Given the description of an element on the screen output the (x, y) to click on. 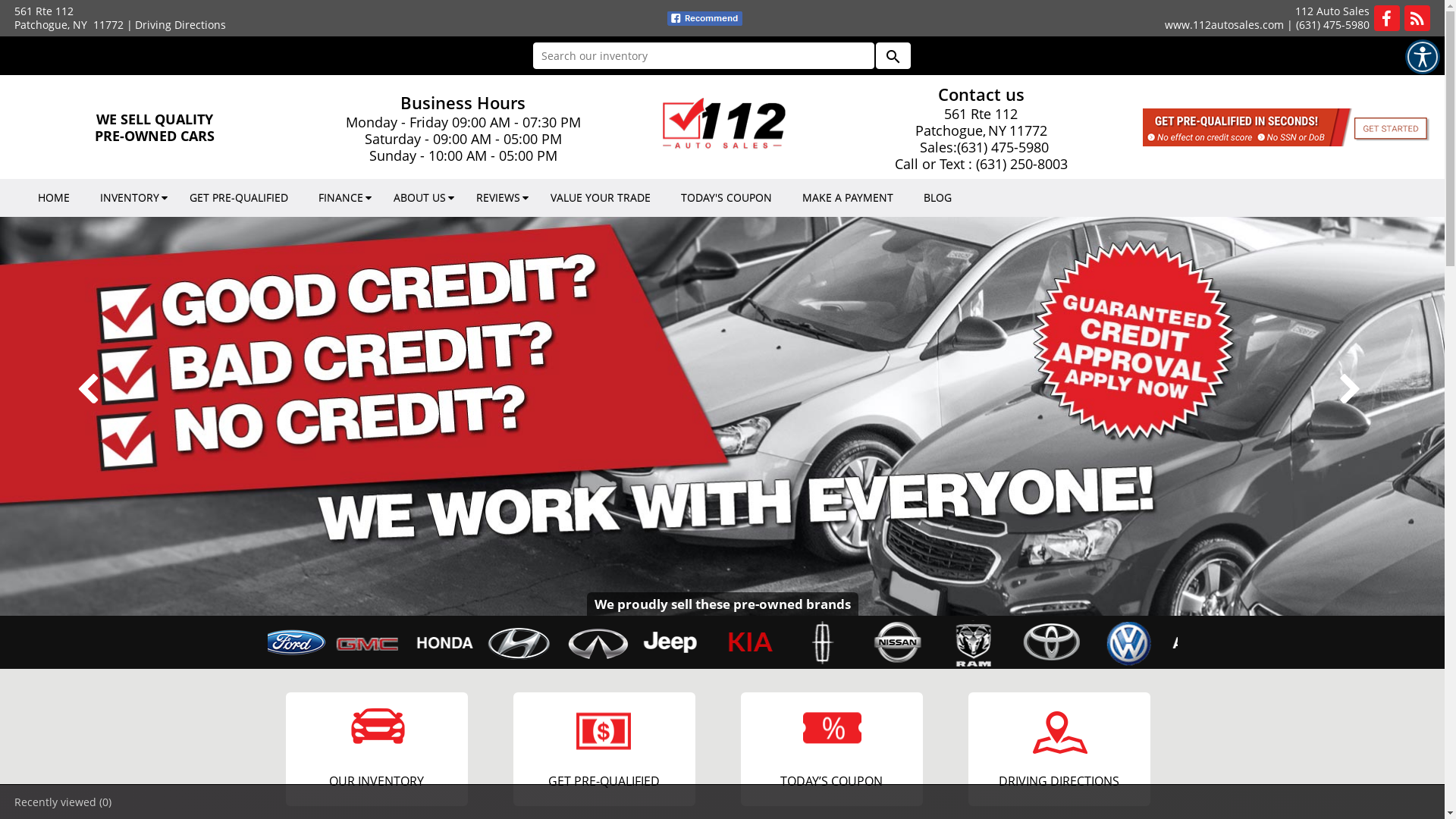
Cadillac (3) Element type: hover (233, 644)
Sales:(631) 475-5980 Element type: text (981, 147)
Apply for car loan Element type: hover (720, 415)
Dodge (2) Element type: hover (304, 644)
Search our inventory Element type: hover (702, 55)
VALUE YOUR TRADE Element type: text (600, 197)
fb recommend Element type: hover (704, 18)
ABOUT US Element type: text (419, 197)
Lincoln (1) Element type: hover (905, 644)
MAKE A PAYMENT Element type: text (847, 197)
search Element type: text (892, 55)
Acura (2) Element type: hover (228, 644)
Nissan (15) Element type: hover (979, 644)
WE SELL QUALITY
PRE-OWNED CARS Element type: text (154, 126)
TODAY'S COUPON Element type: text (726, 197)
GET PRE-QUALIFIED Element type: text (238, 197)
Infiniti (1) Element type: hover (679, 644)
GMC (2) Element type: hover (454, 644)
REVIEWS Element type: text (498, 197)
Jeep (5) Element type: hover (754, 644)
Volkswagen (1) Element type: hover (1205, 644)
INVENTORY Element type: text (129, 197)
Chevrolet (3) Element type: hover (229, 644)
(631) 475-5980 Element type: text (1332, 24)
Hyundai (4) Element type: hover (605, 644)
Honda (8) Element type: hover (529, 644)
www.112autosales.com Element type: text (1223, 24)
Kia (3) Element type: hover (830, 644)
Get Pre-Qualified Element type: hover (1289, 127)
Driving Directions Element type: text (179, 24)
Ford (8) Element type: hover (379, 644)
FINANCE Element type: text (340, 197)
HOME Element type: text (53, 197)
Toyota (10) Element type: hover (1130, 644)
Ram (1) Element type: hover (1054, 644)
BLOG Element type: text (937, 197)
